Given the description of an element on the screen output the (x, y) to click on. 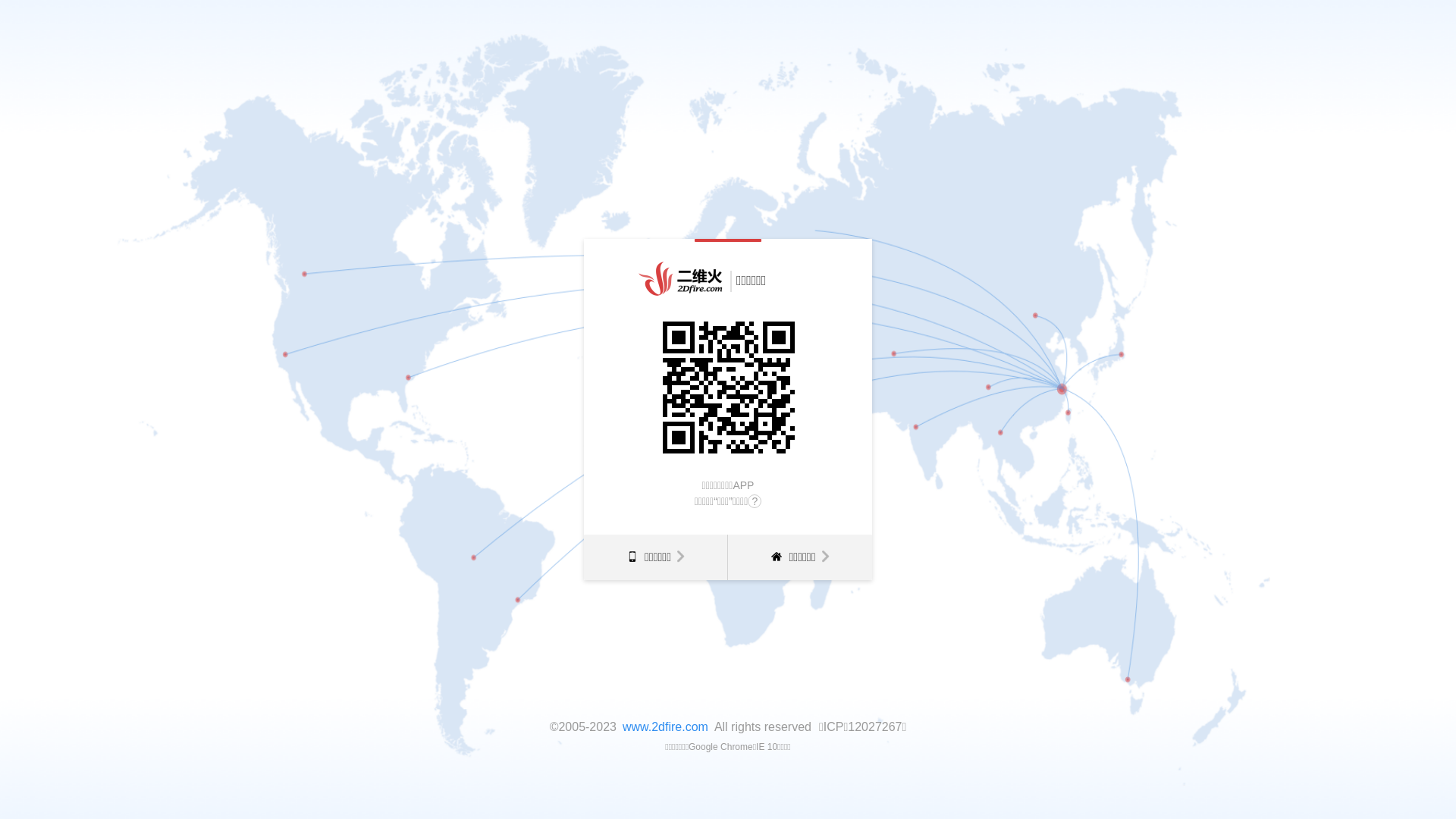
www.2dfire.com Element type: text (665, 726)
